Given the description of an element on the screen output the (x, y) to click on. 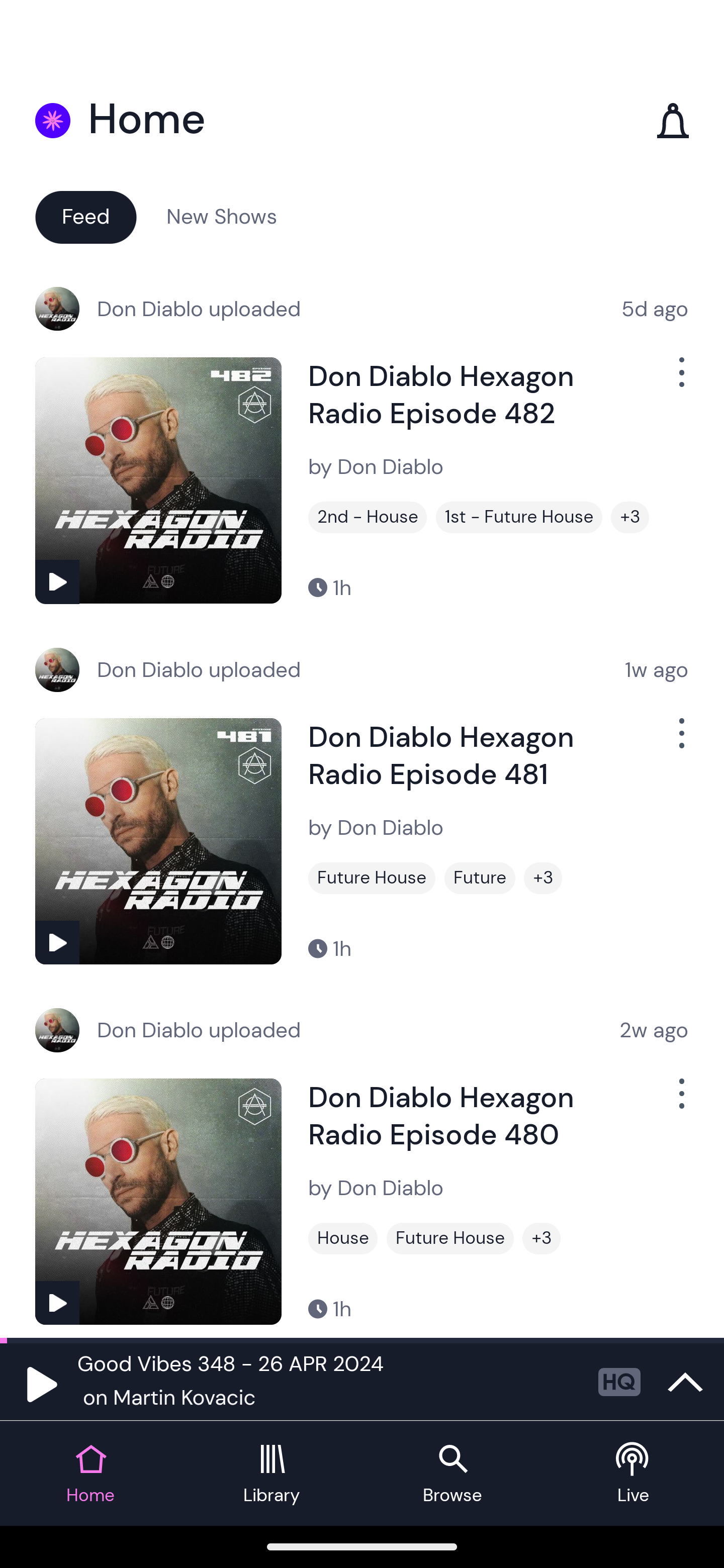
Feed (85, 216)
New Shows (221, 216)
Show Options Menu Button (679, 379)
2nd - House (367, 517)
1st - Future House (518, 517)
Show Options Menu Button (679, 740)
Future House (371, 877)
Future (479, 877)
Show Options Menu Button (679, 1101)
House (342, 1238)
Future House (450, 1238)
Home tab Home (90, 1473)
Library tab Library (271, 1473)
Browse tab Browse (452, 1473)
Live tab Live (633, 1473)
